Given the description of an element on the screen output the (x, y) to click on. 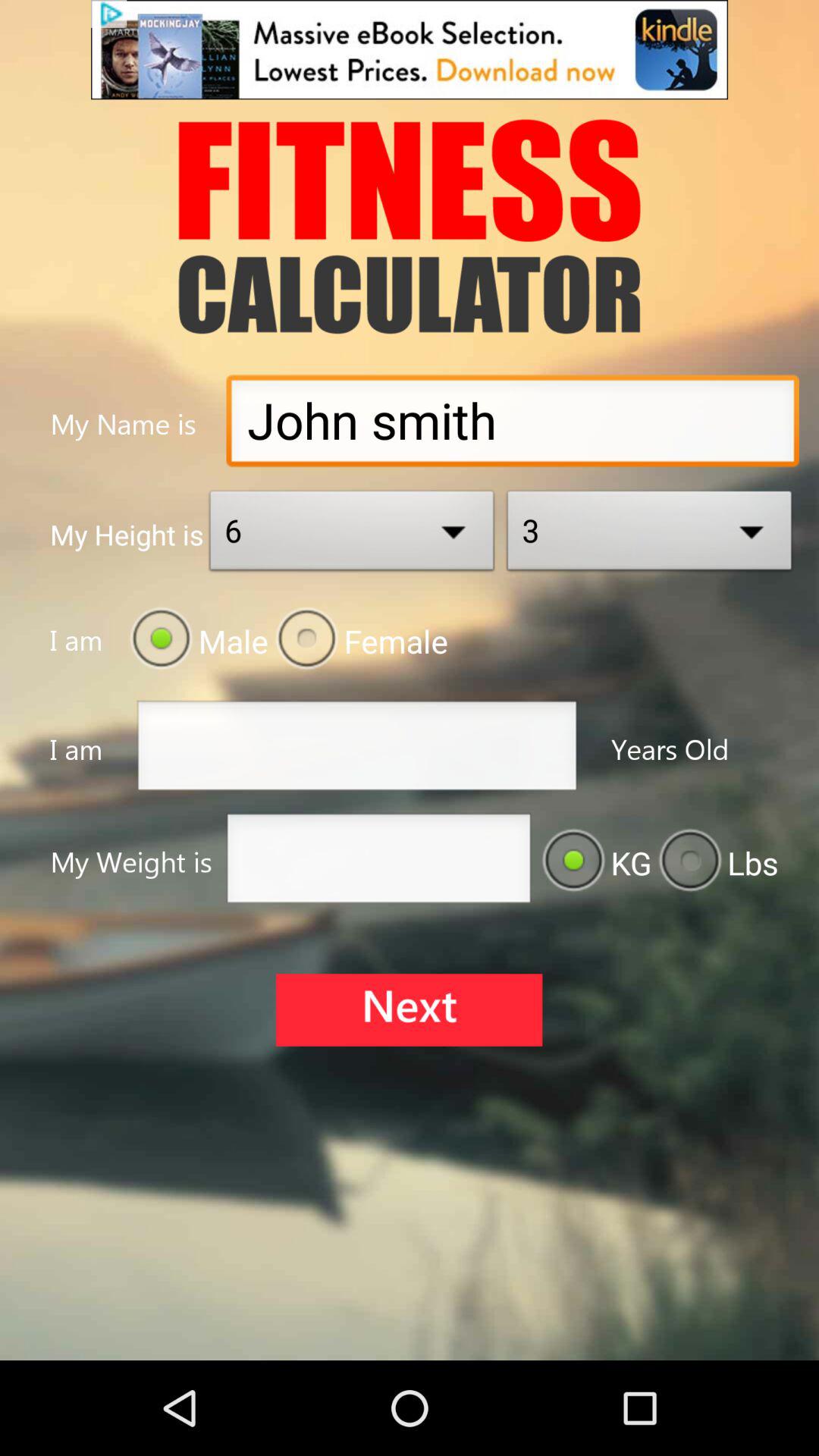
input field (378, 862)
